Given the description of an element on the screen output the (x, y) to click on. 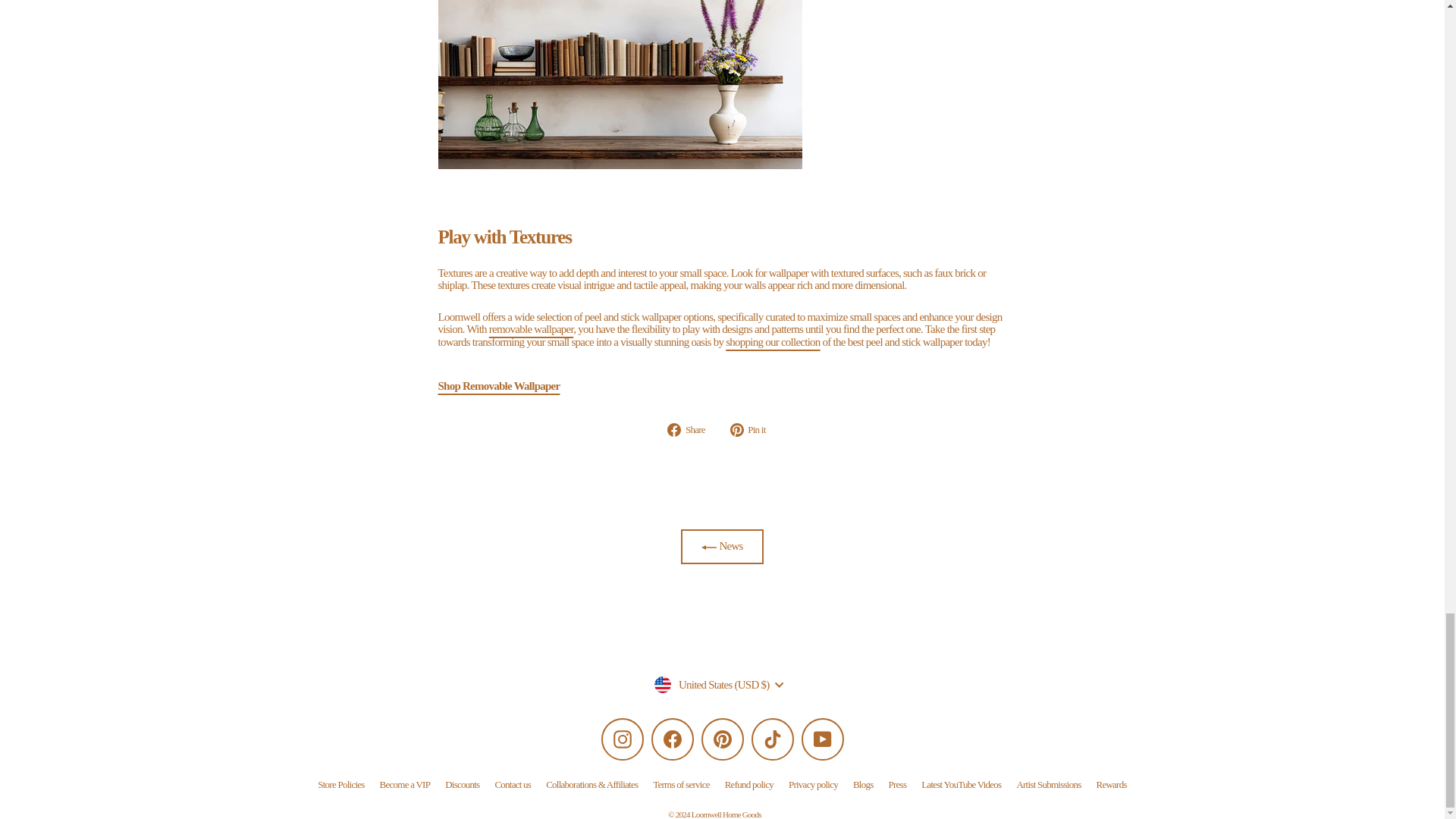
Loomwell Home Goods on TikTok (772, 739)
Loomwell Home Goods on Pinterest (721, 739)
Pin on Pinterest (753, 429)
Share on Facebook (691, 429)
Loomwell Home Goods on Facebook (671, 739)
Loomwell Home Goods on YouTube (821, 739)
Loomwell Home Goods on Instagram (621, 739)
